Given the description of an element on the screen output the (x, y) to click on. 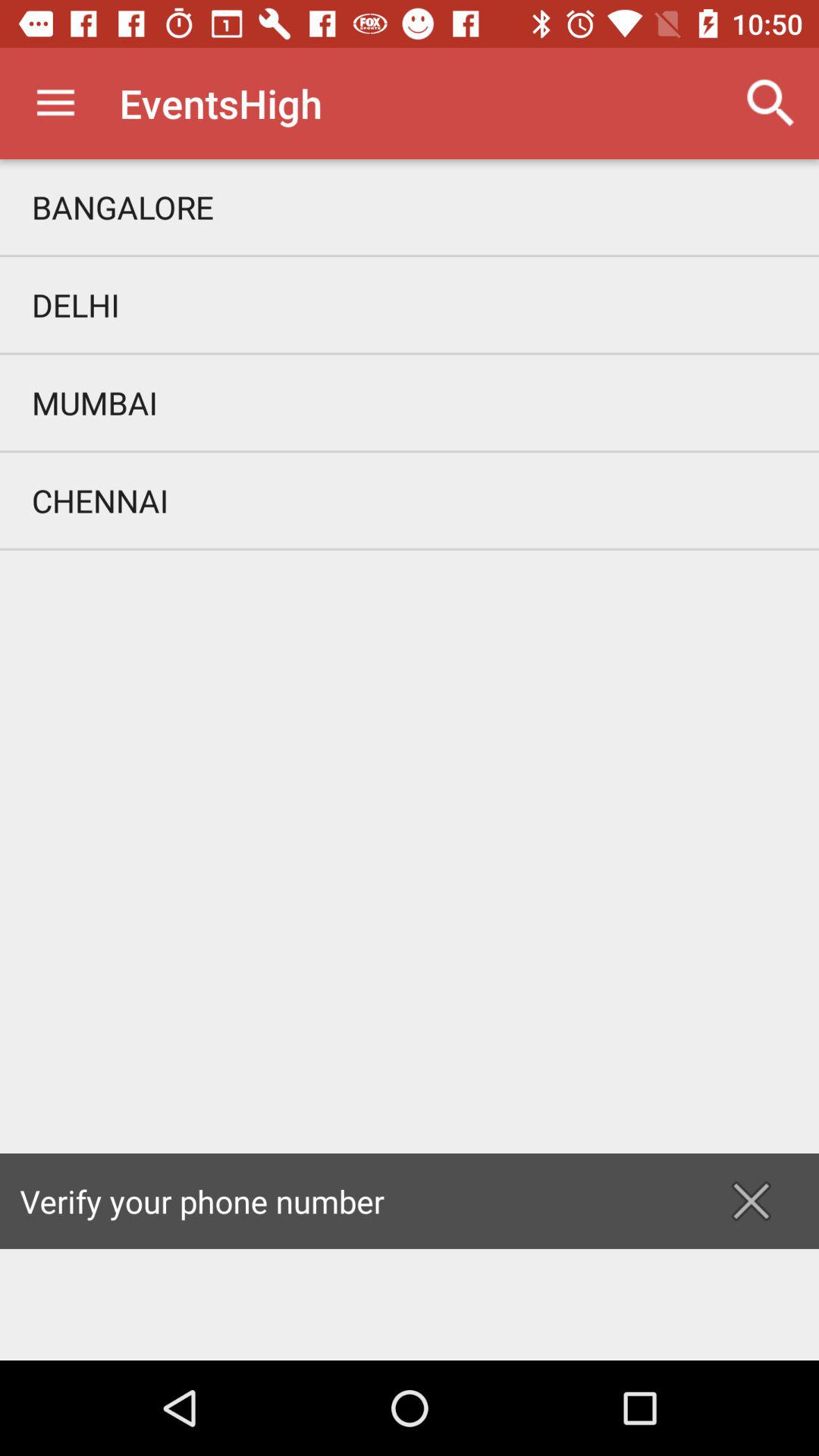
choose bangalore (409, 206)
